Given the description of an element on the screen output the (x, y) to click on. 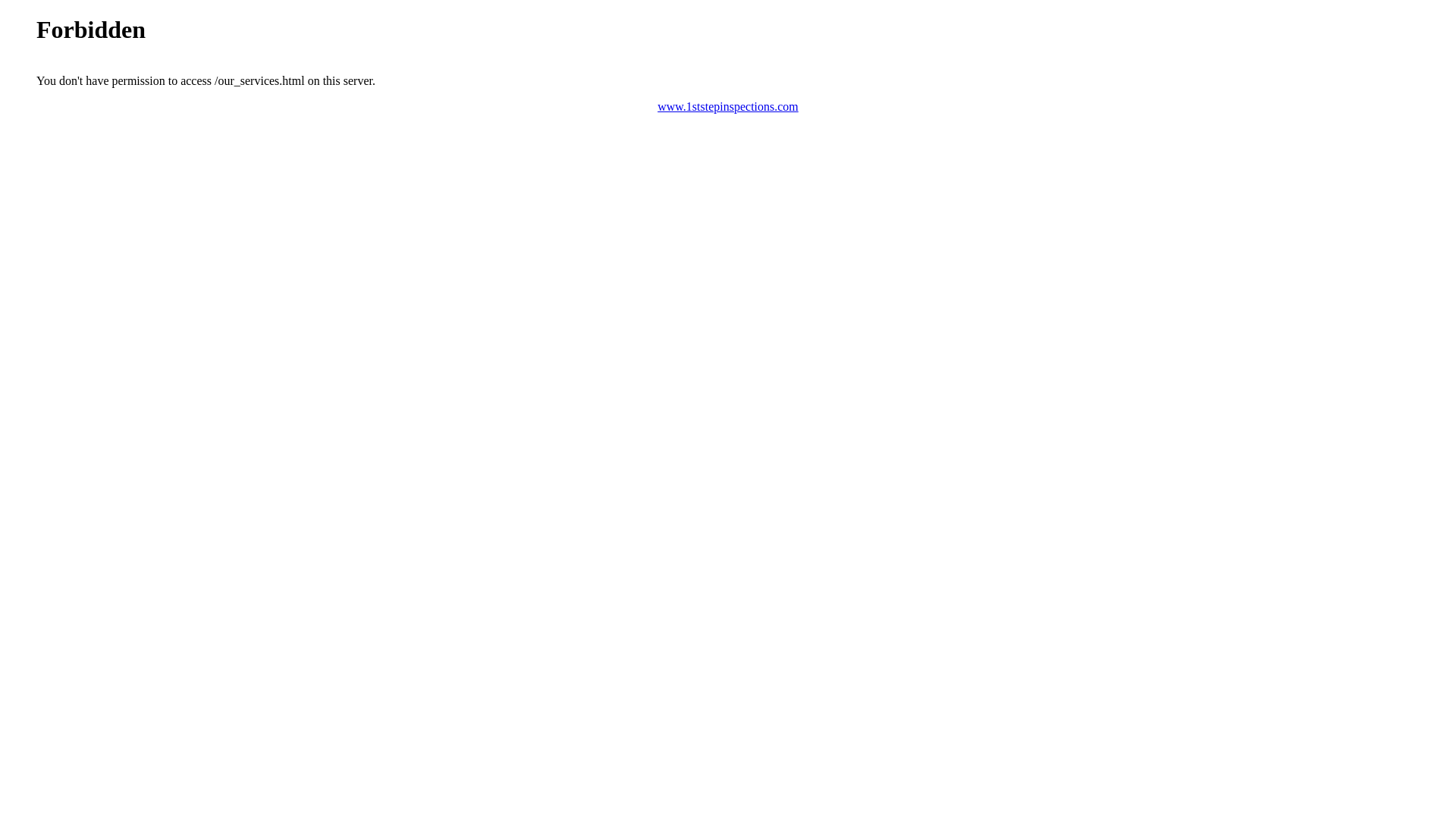
www.1ststepinspections.com Element type: text (727, 106)
